Given the description of an element on the screen output the (x, y) to click on. 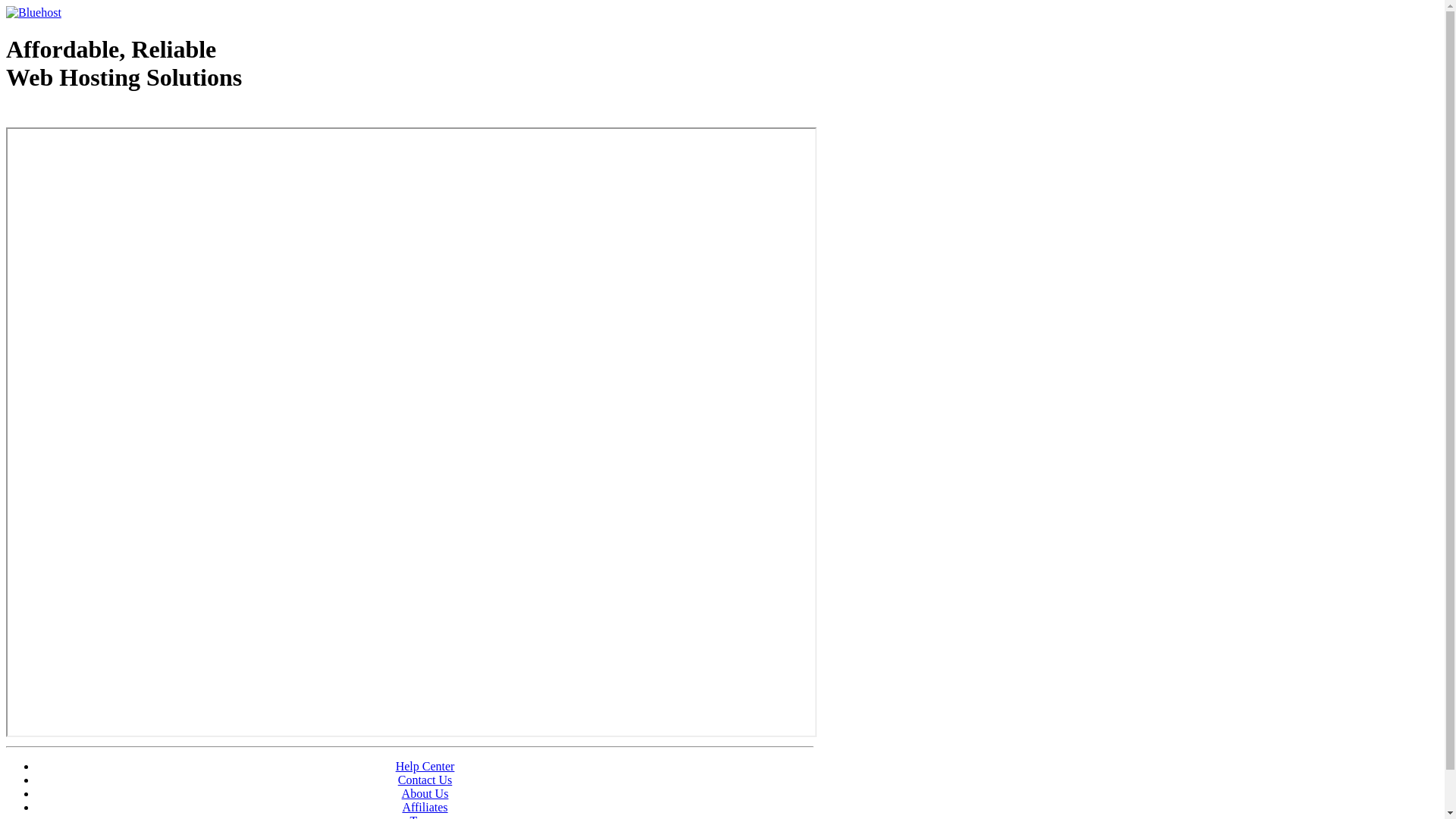
About Us Element type: text (424, 793)
Contact Us Element type: text (425, 779)
Affiliates Element type: text (424, 806)
Help Center Element type: text (425, 765)
Web Hosting - courtesy of www.bluehost.com Element type: text (94, 115)
